Given the description of an element on the screen output the (x, y) to click on. 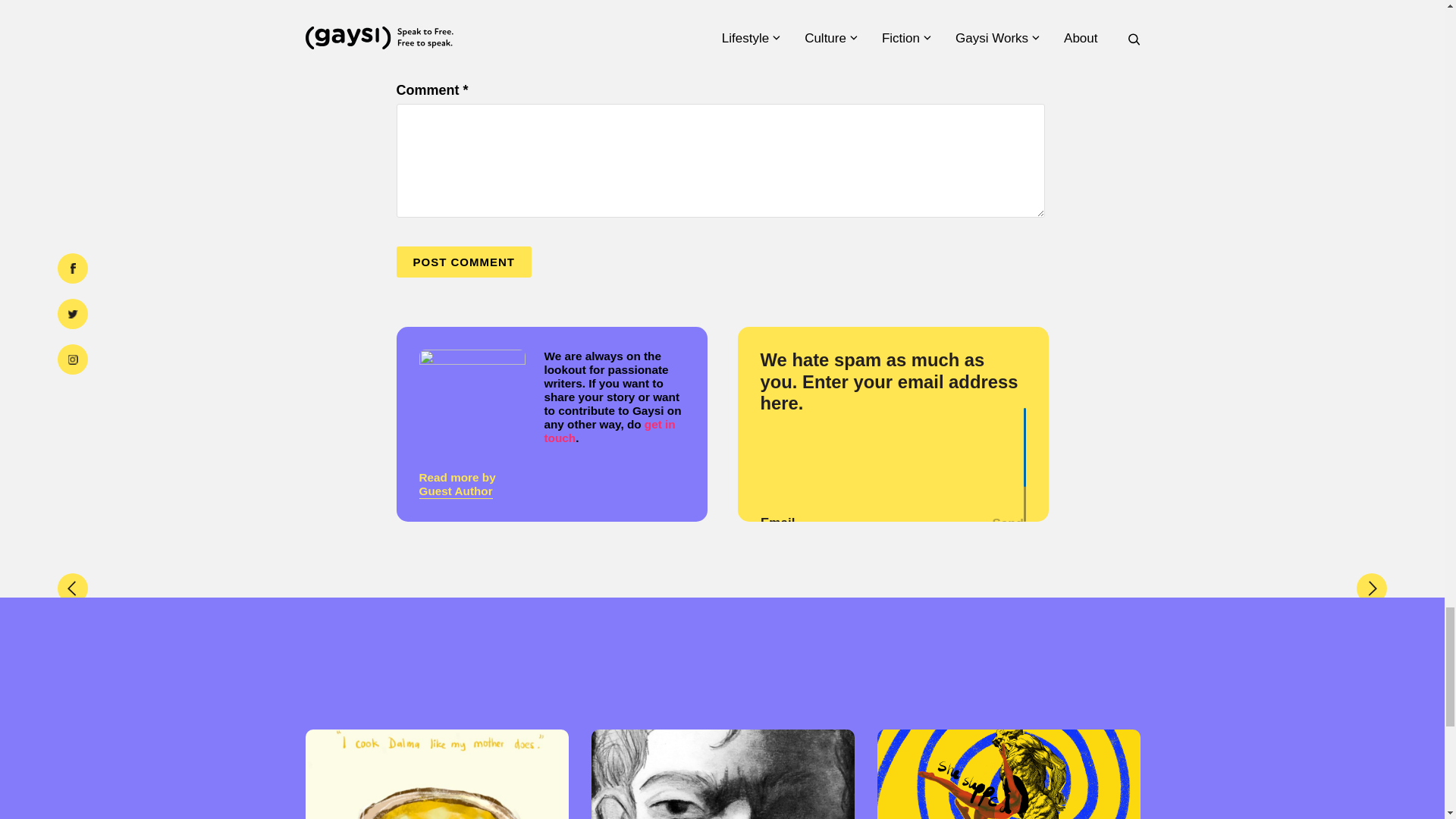
yes (401, 62)
Get in touch (609, 430)
Post Comment (463, 261)
